Given the description of an element on the screen output the (x, y) to click on. 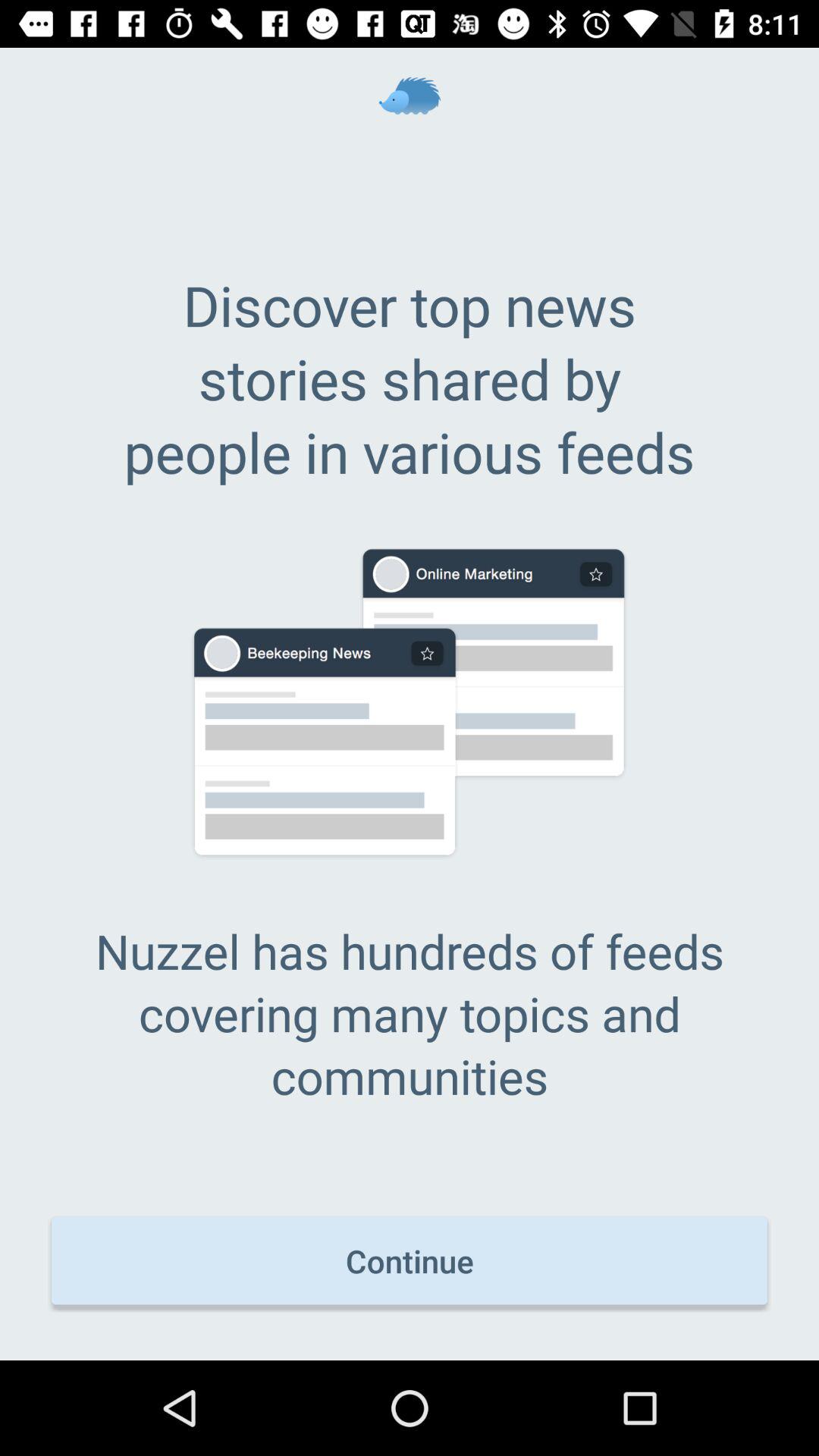
select the continue (409, 1260)
